Given the description of an element on the screen output the (x, y) to click on. 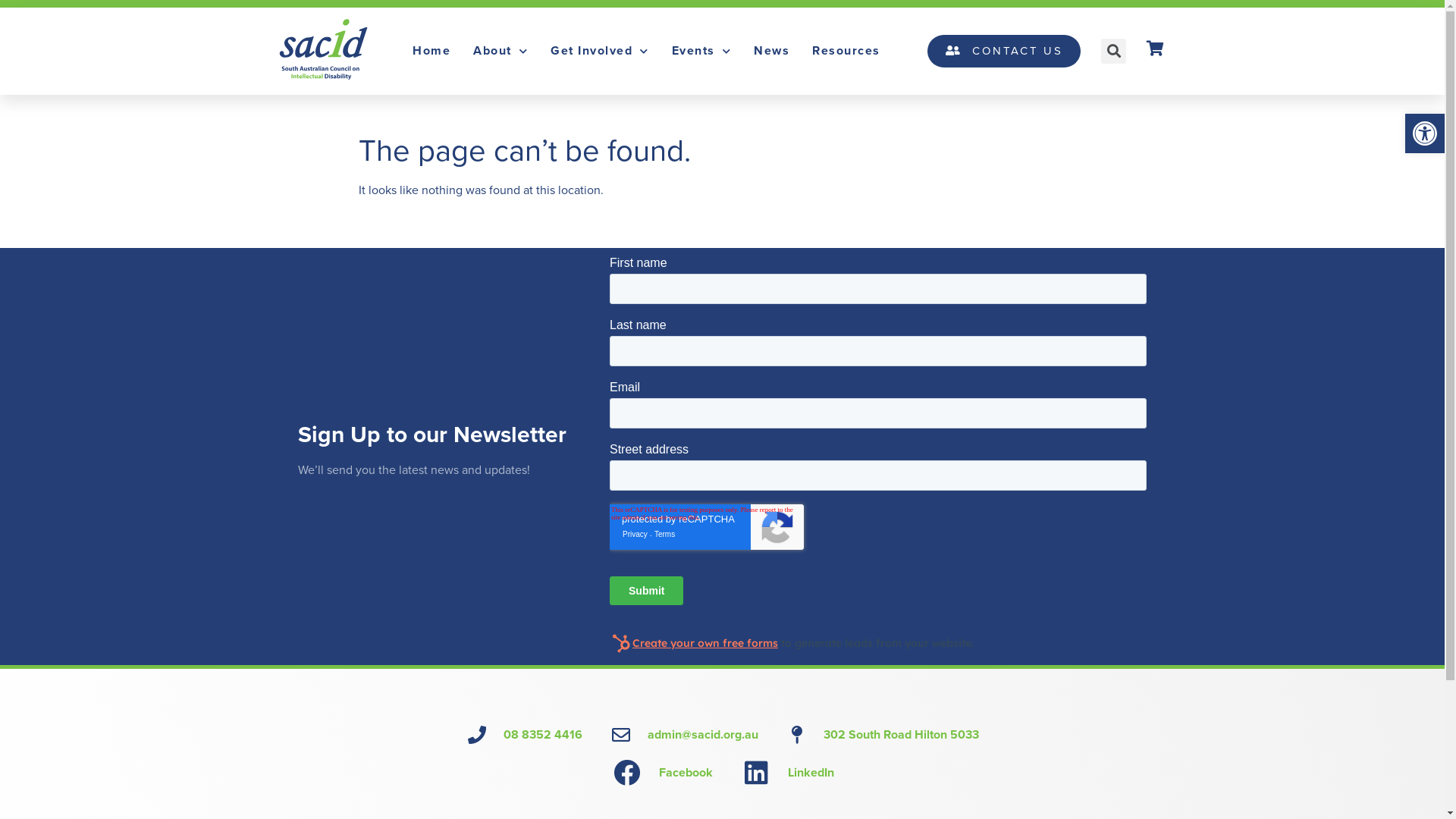
302 South Road Hilton 5033 Element type: text (882, 734)
Resources Element type: text (846, 50)
CONTACT US Element type: text (1004, 51)
Form 0 Element type: hover (877, 456)
Facebook Element type: text (661, 772)
Open toolbar
Accessibility Tools Element type: text (1424, 133)
Events Element type: text (701, 50)
LinkedIn Element type: text (787, 772)
Get Involved Element type: text (599, 50)
News Element type: text (771, 50)
Home Element type: text (431, 50)
About Element type: text (500, 50)
